Given the description of an element on the screen output the (x, y) to click on. 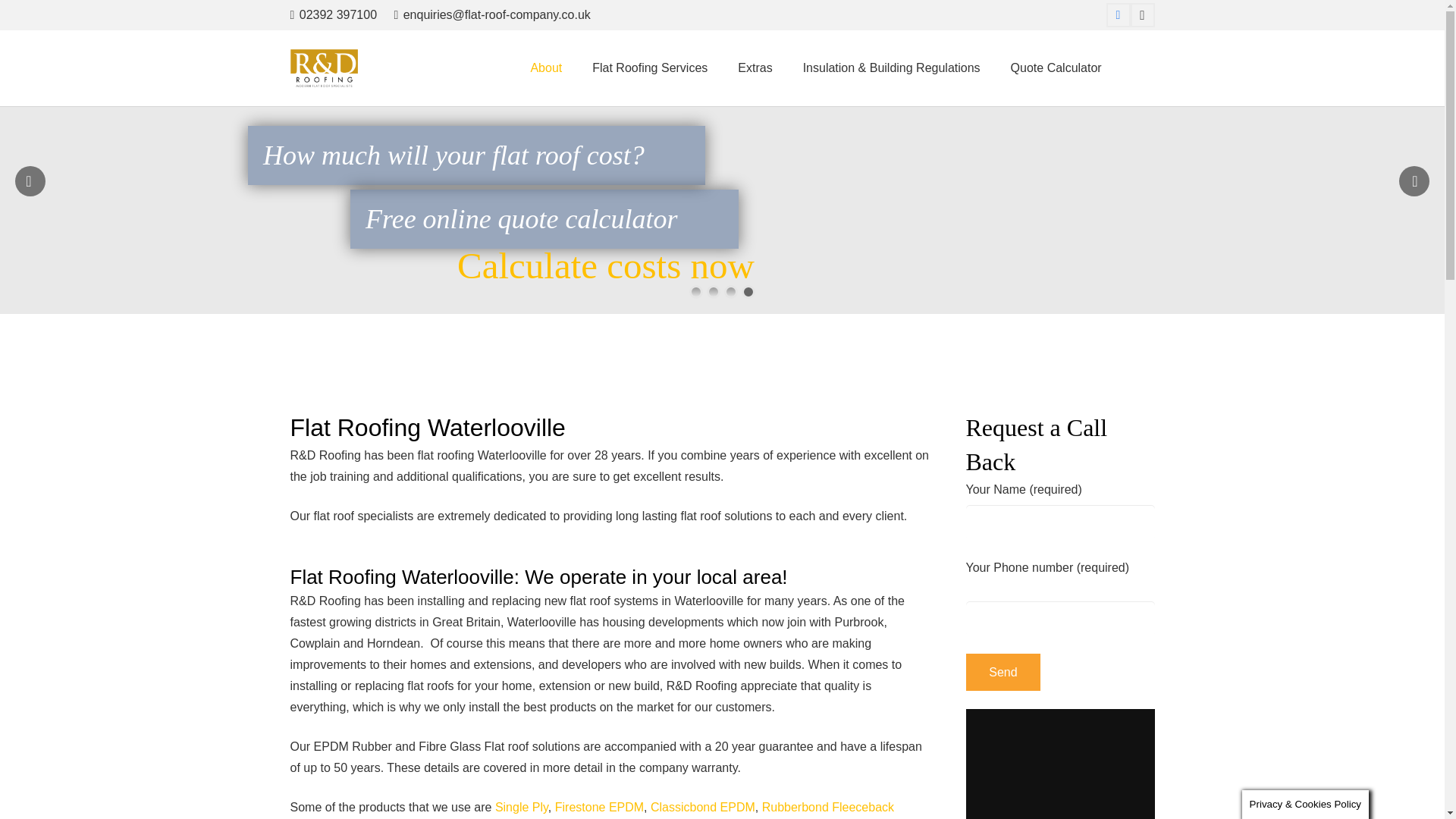
Flat Roofing Services (649, 68)
Send (1003, 672)
Instagram (1142, 15)
Facebook (1118, 15)
02392 397100 (333, 14)
